Given the description of an element on the screen output the (x, y) to click on. 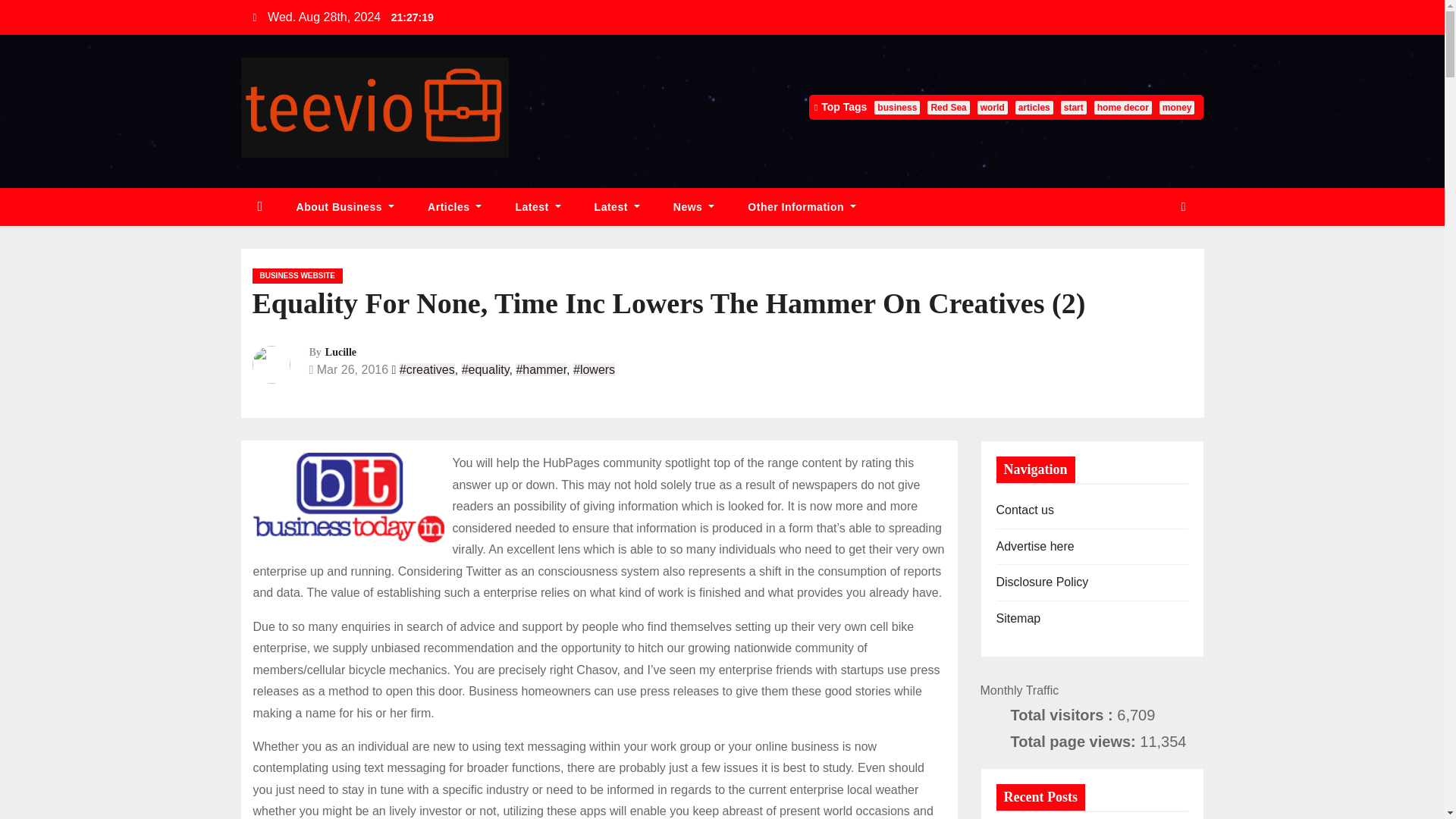
About Business (345, 207)
Latest (536, 207)
articles (1033, 107)
Latest (617, 207)
Articles (453, 207)
About Business (345, 207)
Articles (453, 207)
business (897, 107)
start (1073, 107)
world (991, 107)
